Given the description of an element on the screen output the (x, y) to click on. 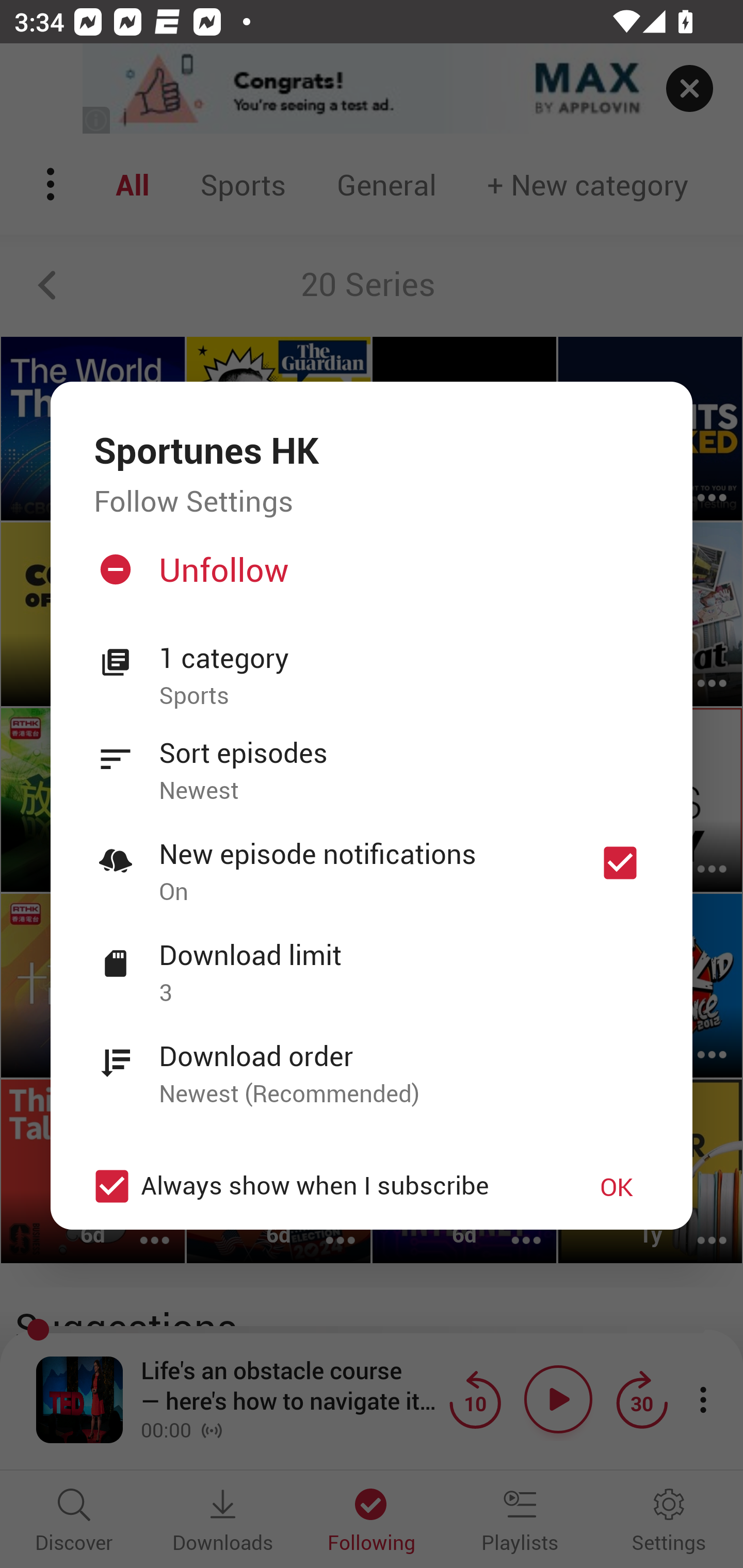
Unfollow (369, 576)
1 category (404, 658)
Sports (404, 696)
Sort episodes Newest (371, 760)
New episode notifications (620, 863)
Download limit 3 (371, 962)
Download order Newest (Recommended) (371, 1063)
OK (616, 1186)
Always show when I subscribe (320, 1186)
